Given the description of an element on the screen output the (x, y) to click on. 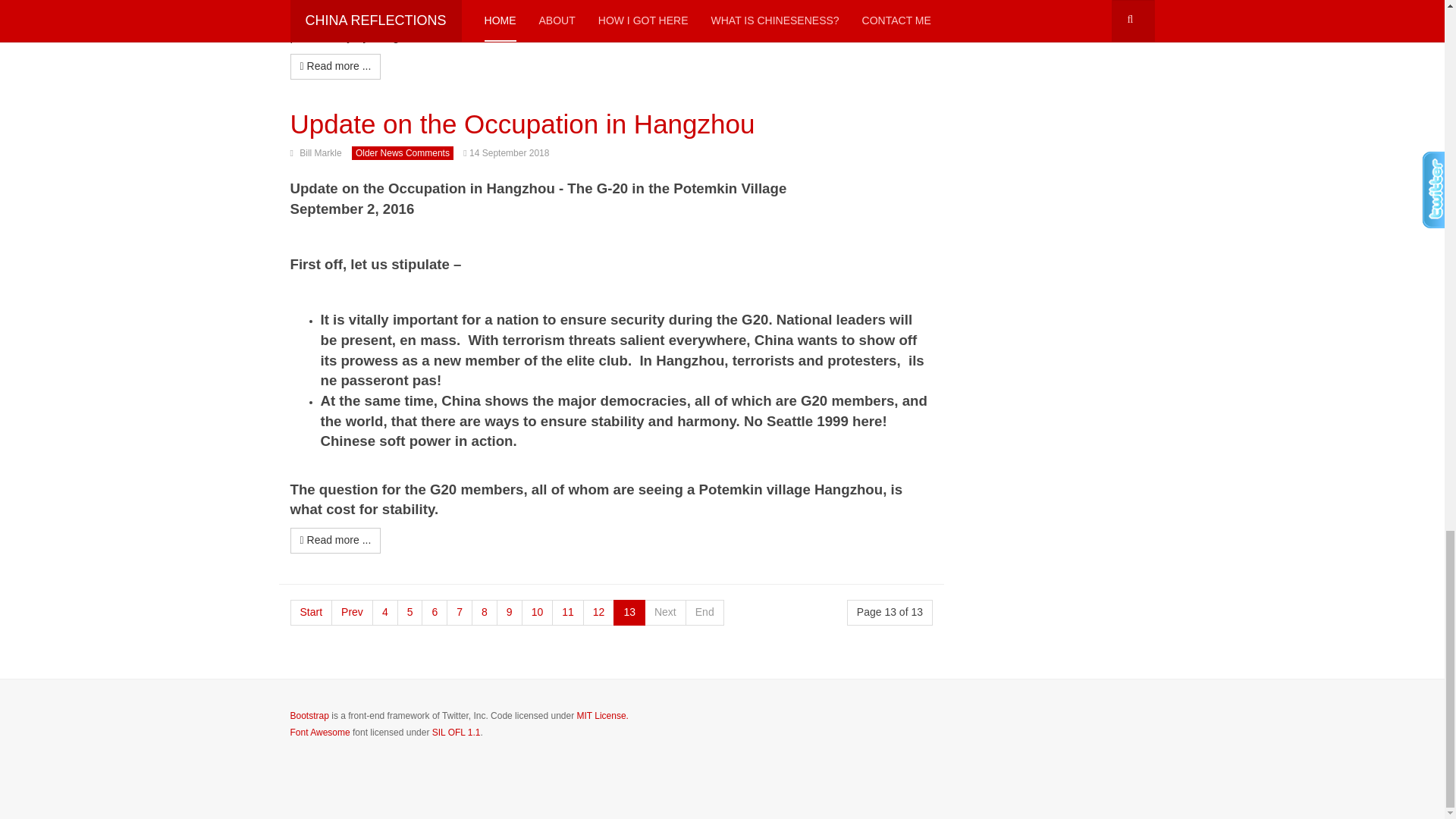
5 (410, 612)
10 (537, 612)
Read more ... (334, 540)
6 (434, 612)
12 (598, 612)
Update on the Occupation in Hangzhou (521, 123)
Start (310, 612)
9 (509, 612)
Read more ... (334, 66)
13 (628, 612)
Older News Comments (402, 152)
4 (384, 612)
11 (567, 612)
Prev (351, 612)
7 (458, 612)
